Given the description of an element on the screen output the (x, y) to click on. 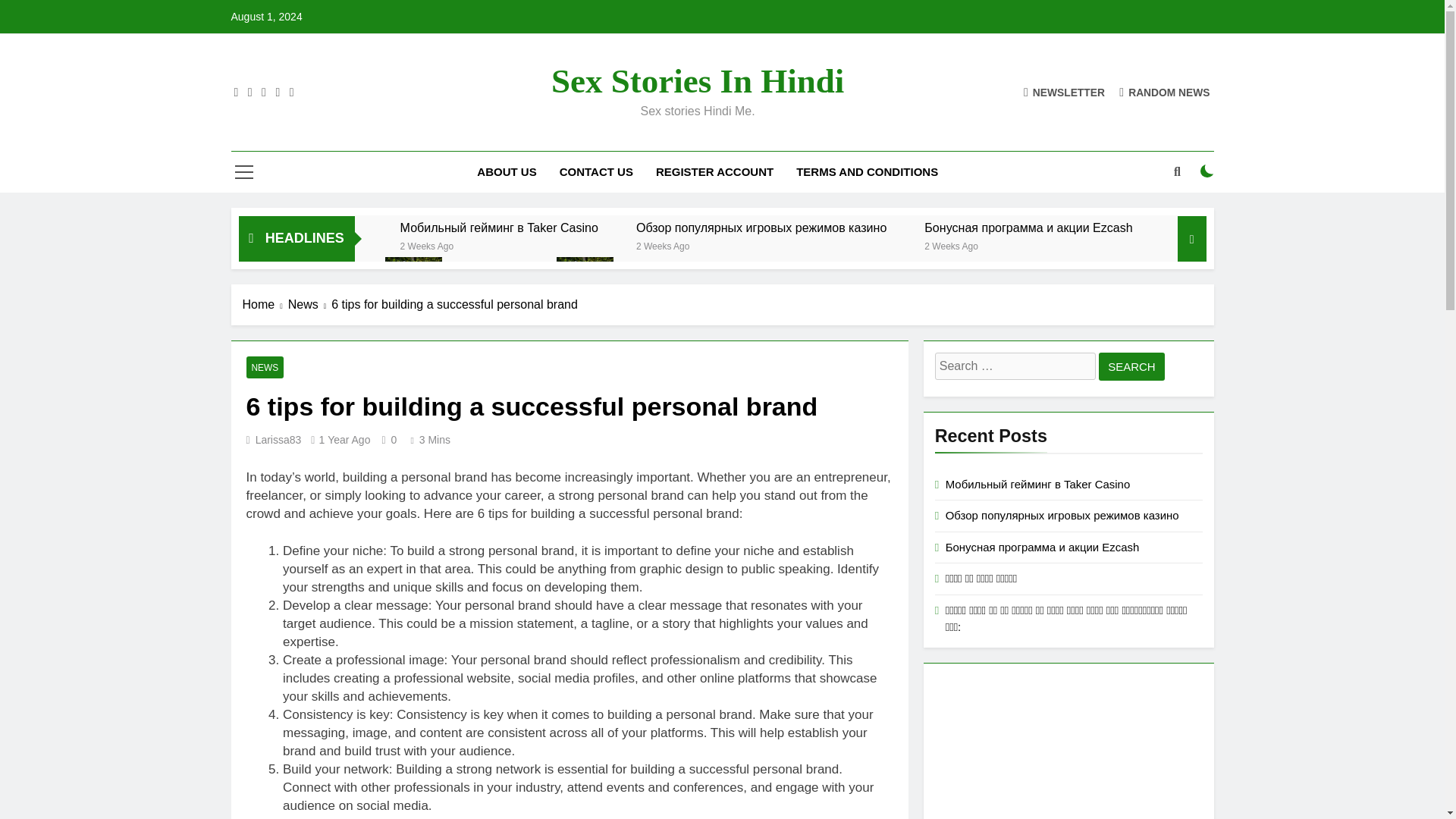
News (309, 304)
NEWSLETTER (1064, 91)
Sex Stories In Hindi (697, 80)
2 Weeks Ago (951, 245)
TERMS AND CONDITIONS (866, 171)
CONTACT US (596, 171)
Home (265, 304)
RANDOM NEWS (1164, 91)
Search (1131, 366)
NEWS (264, 367)
on (1206, 171)
2 Weeks Ago (427, 245)
2 Weeks Ago (663, 245)
Larissa83 (278, 439)
Search (1131, 366)
